Given the description of an element on the screen output the (x, y) to click on. 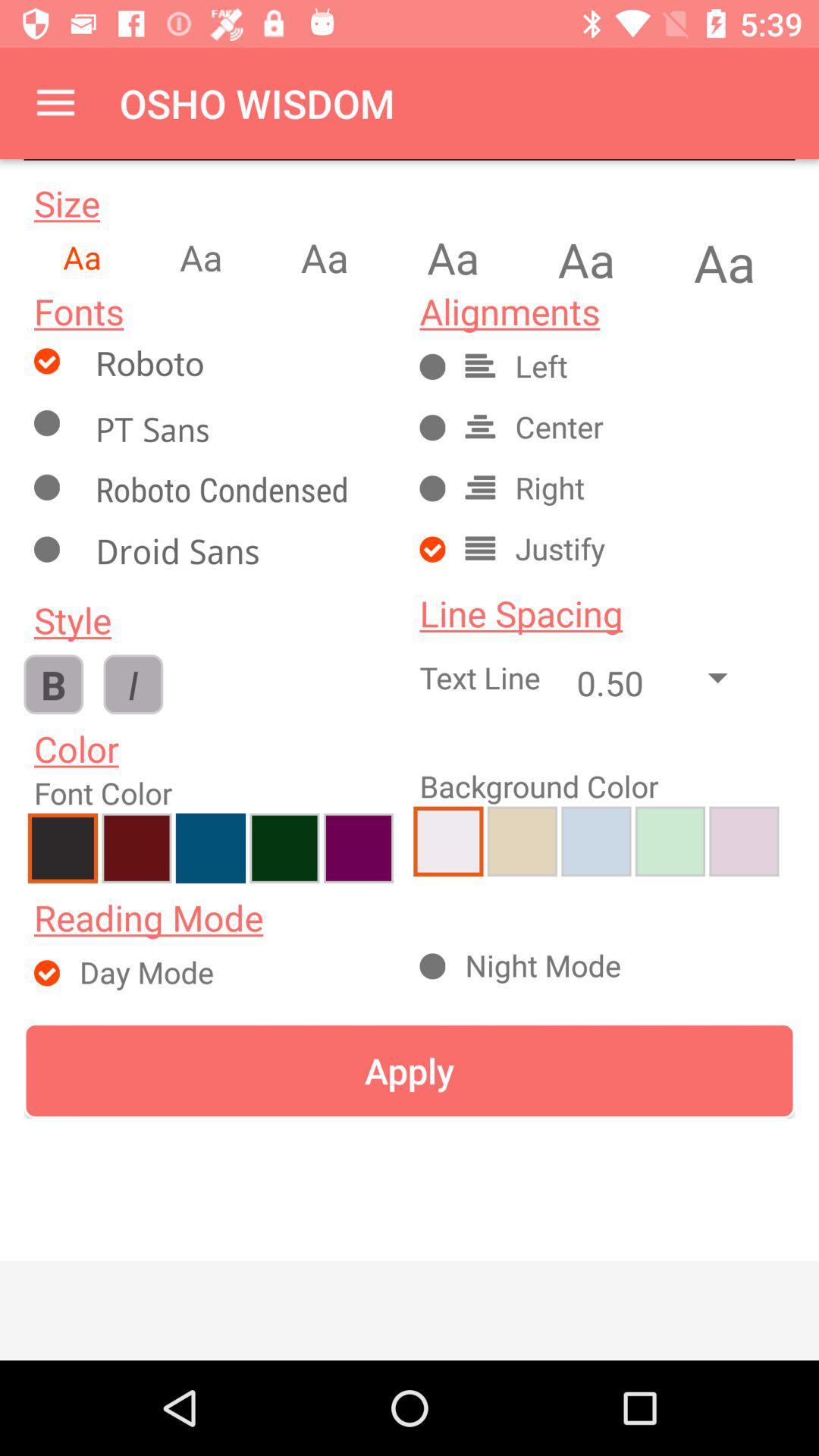
font color (744, 841)
